Given the description of an element on the screen output the (x, y) to click on. 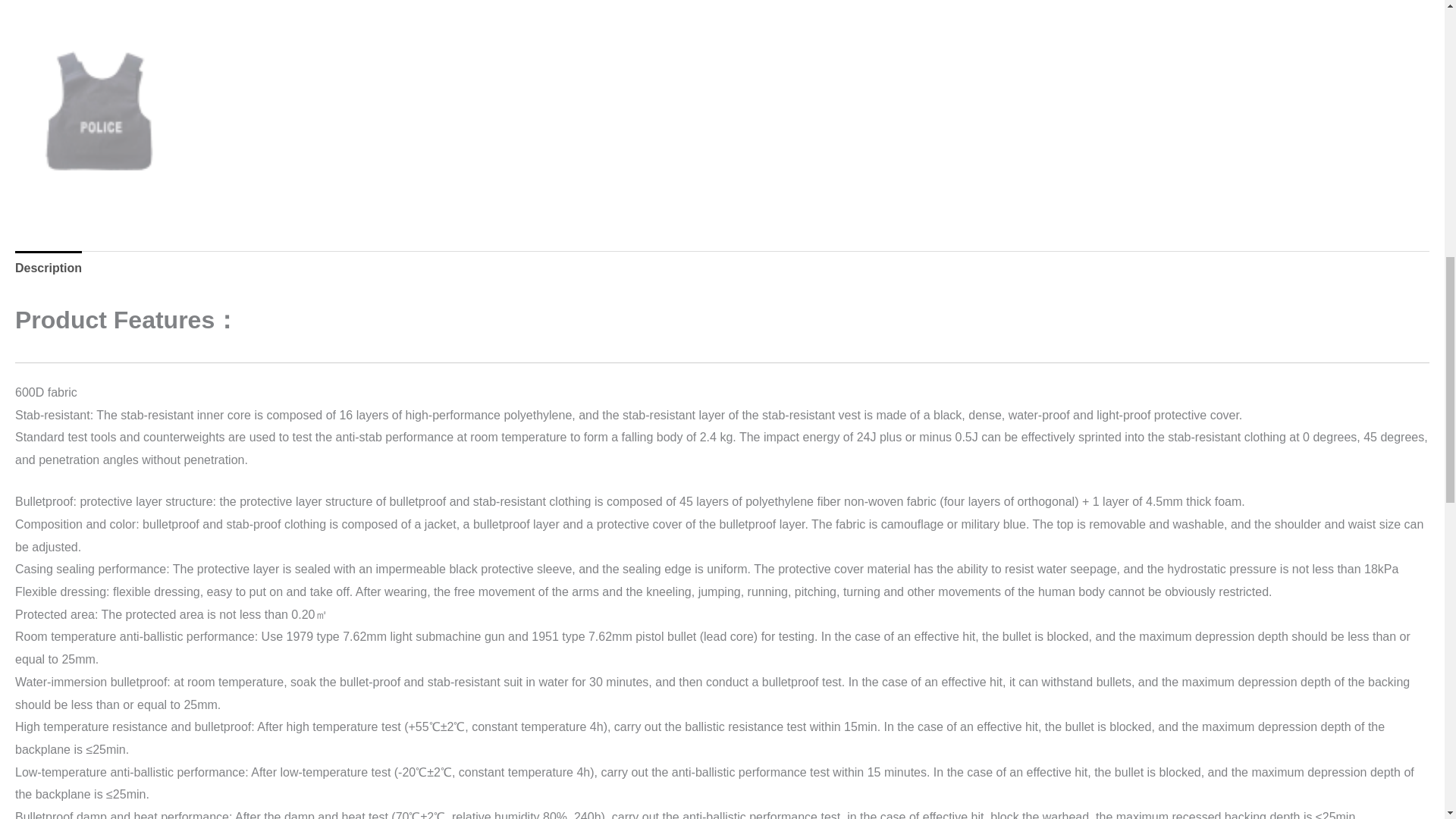
Description (47, 267)
